Given the description of an element on the screen output the (x, y) to click on. 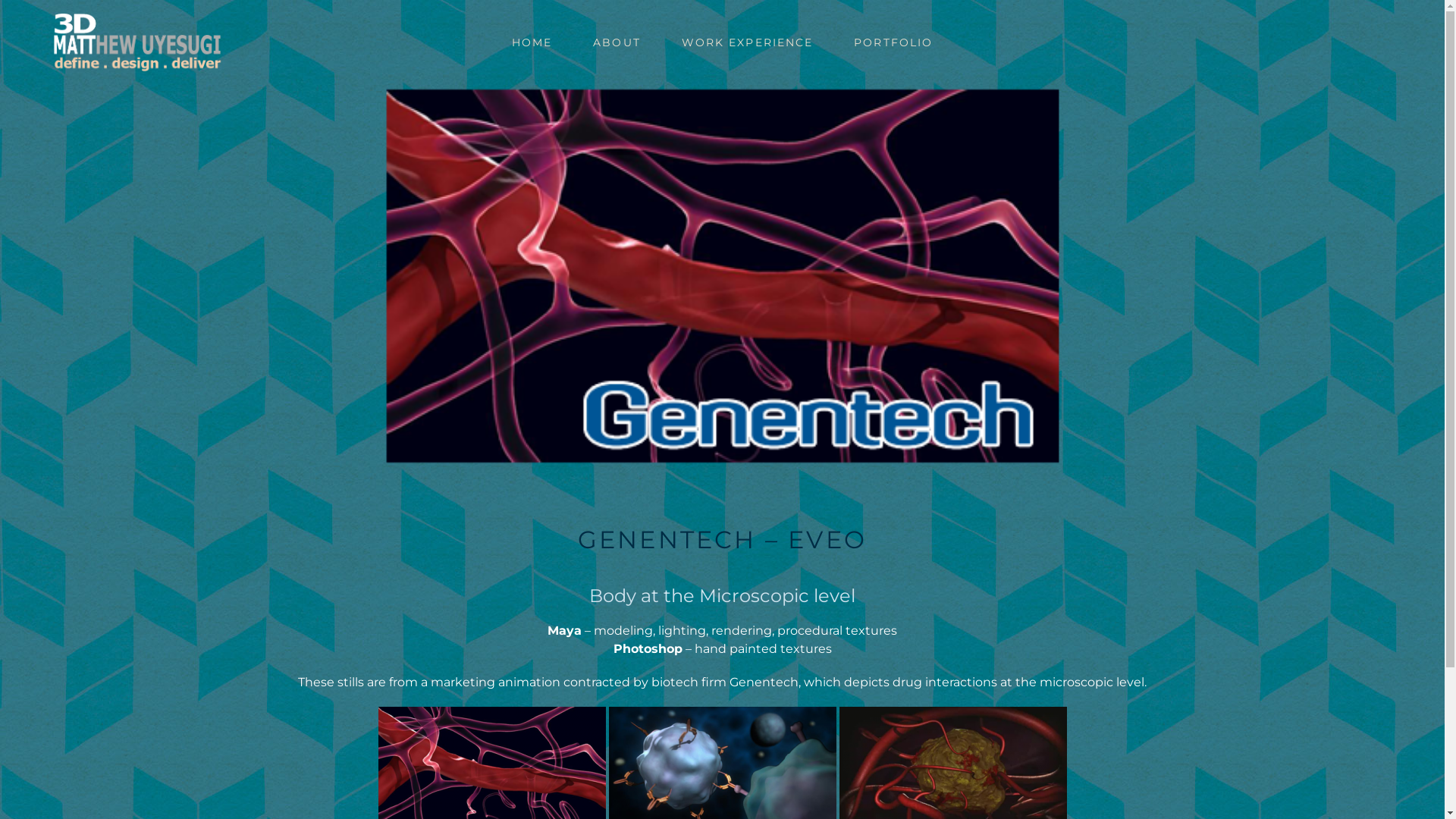
PORTFOLIO Element type: text (892, 42)
WORK EXPERIENCE Element type: text (747, 42)
HOME Element type: text (531, 42)
ABOUT Element type: text (616, 42)
